Given the description of an element on the screen output the (x, y) to click on. 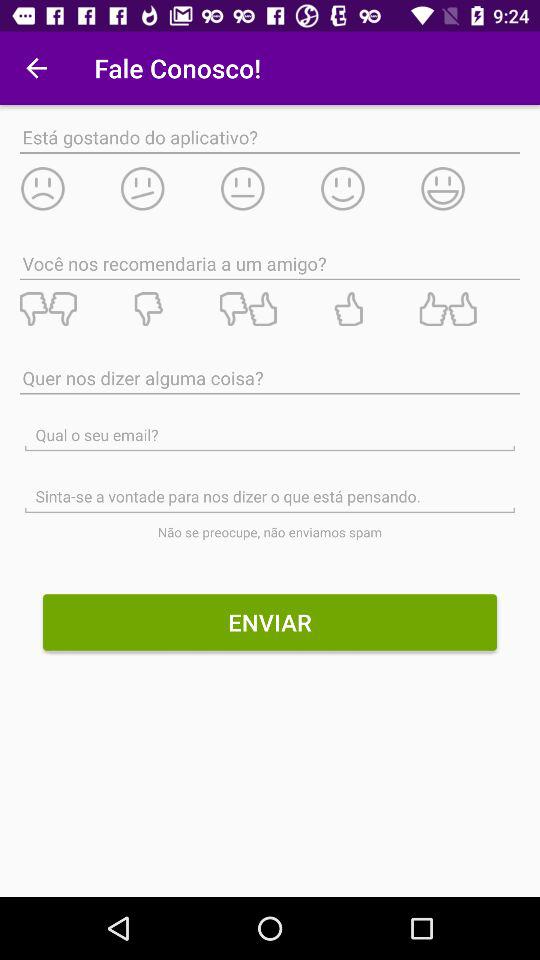
turn off the app to the left of fale conosco! icon (36, 68)
